Given the description of an element on the screen output the (x, y) to click on. 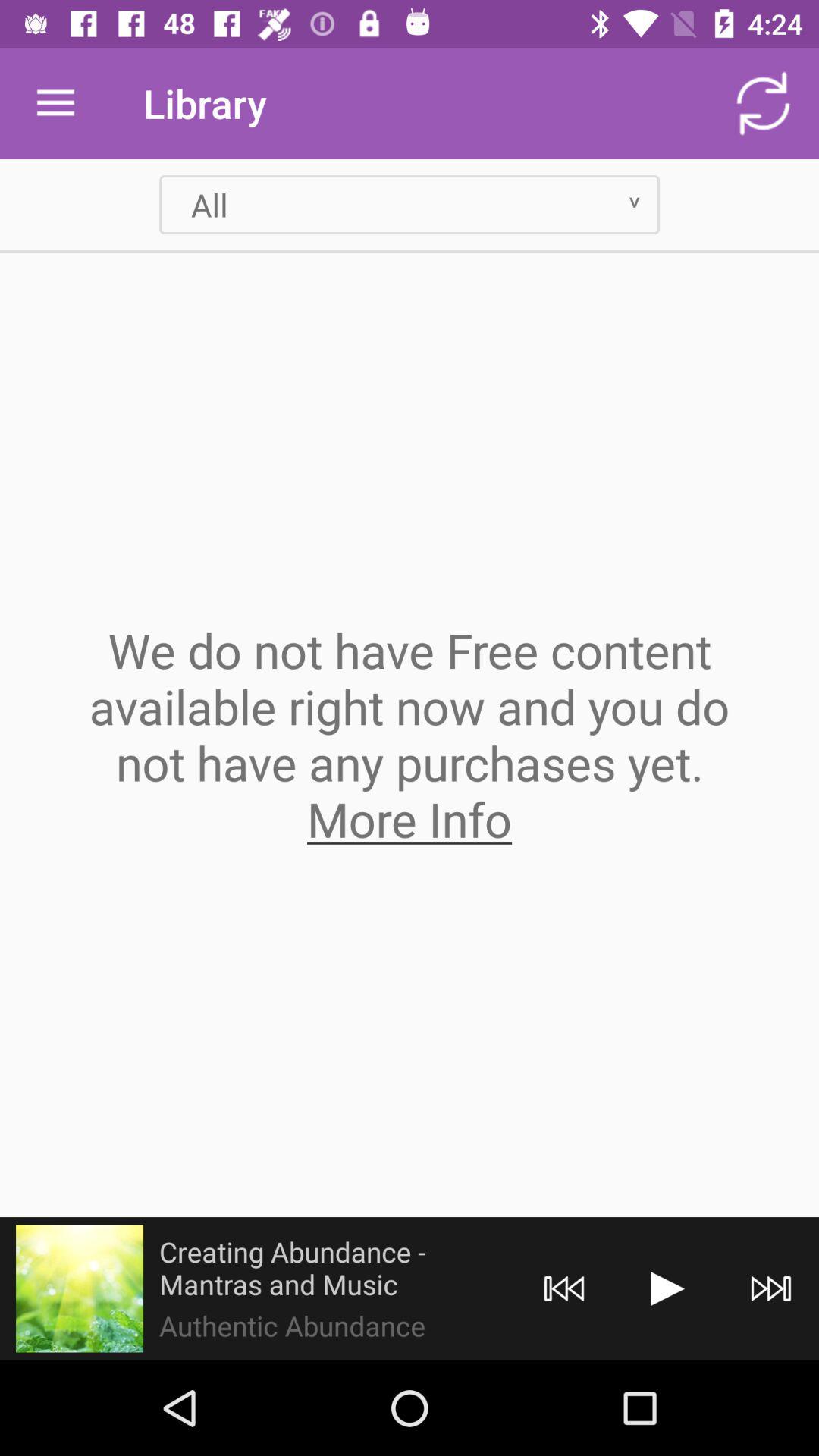
tap icon next to library item (55, 103)
